Given the description of an element on the screen output the (x, y) to click on. 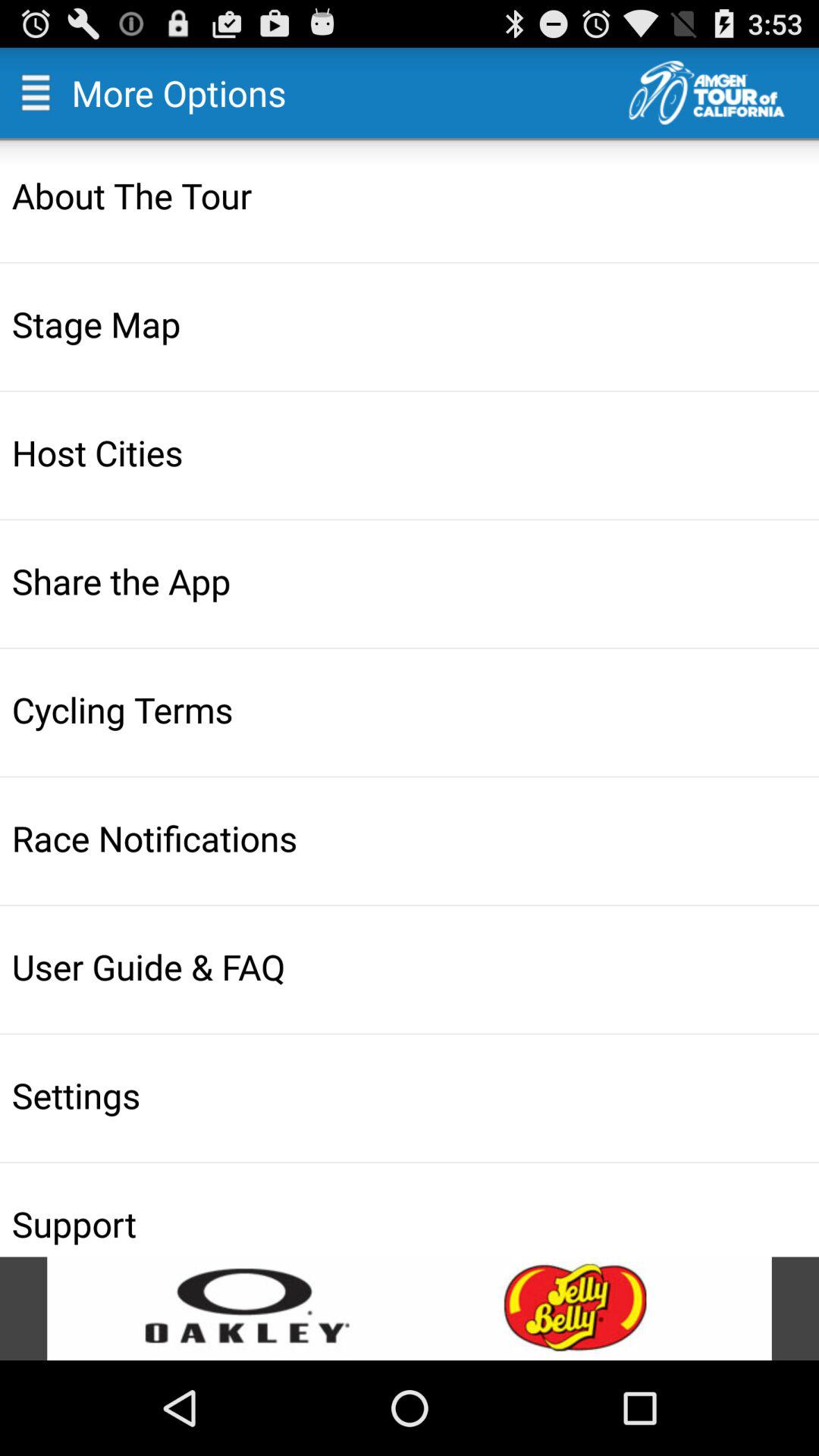
angel tour of california (724, 92)
